Given the description of an element on the screen output the (x, y) to click on. 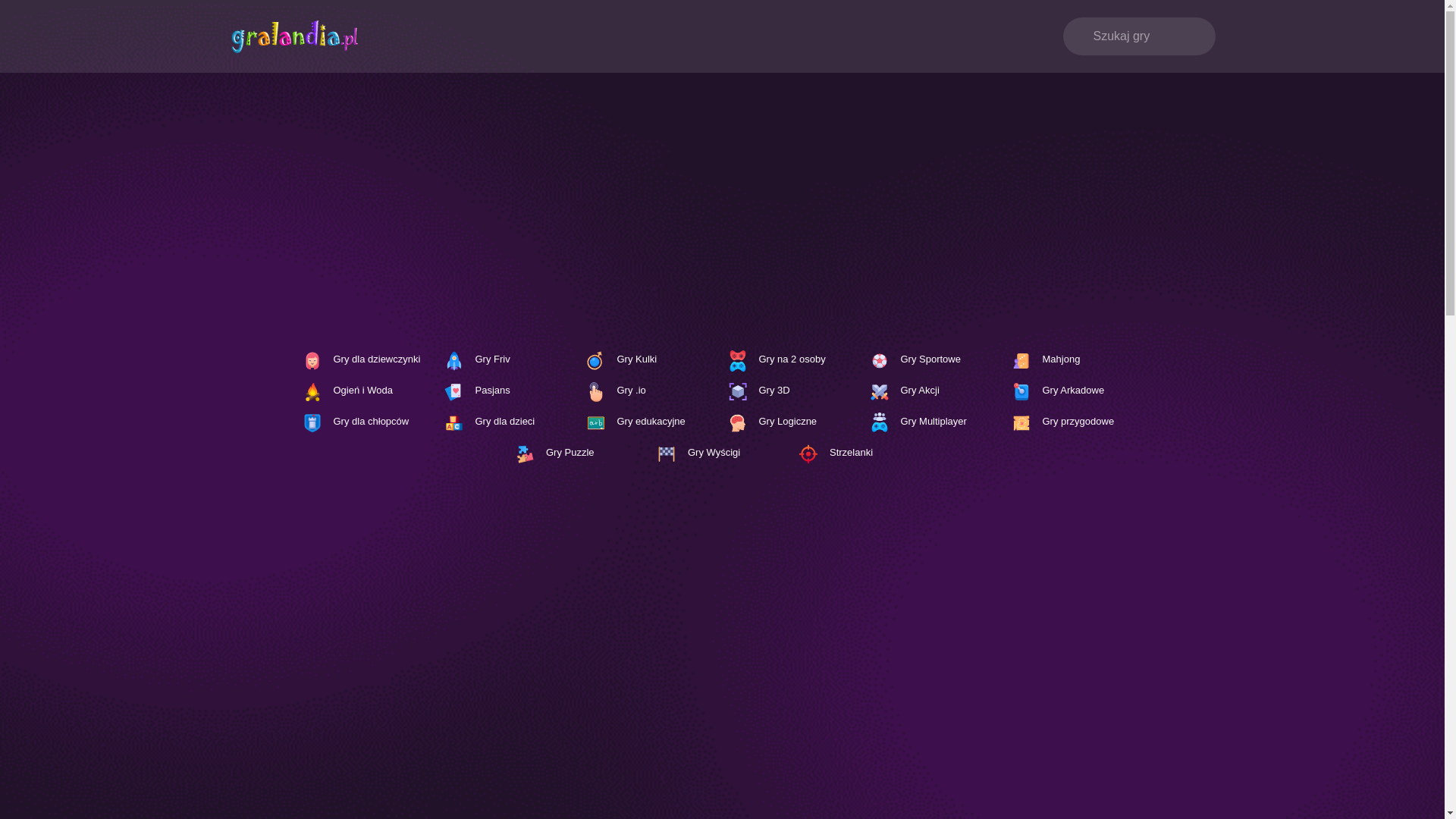
Gry .io (651, 391)
Gry 3D (792, 391)
Gry na 2 osoby (792, 360)
Gry przygodowe (1076, 422)
Gry Multiplayer (935, 422)
Gry Logiczne (792, 422)
Gry Puzzle (579, 454)
Gry 3D (792, 391)
Gry przygodowe (1076, 422)
Gry dla dzieci (508, 422)
Gry Akcji (935, 391)
Mahjong  (1076, 360)
Gry dla dzieci (508, 422)
Gry Friv (508, 360)
Strzelanki (863, 454)
